Given the description of an element on the screen output the (x, y) to click on. 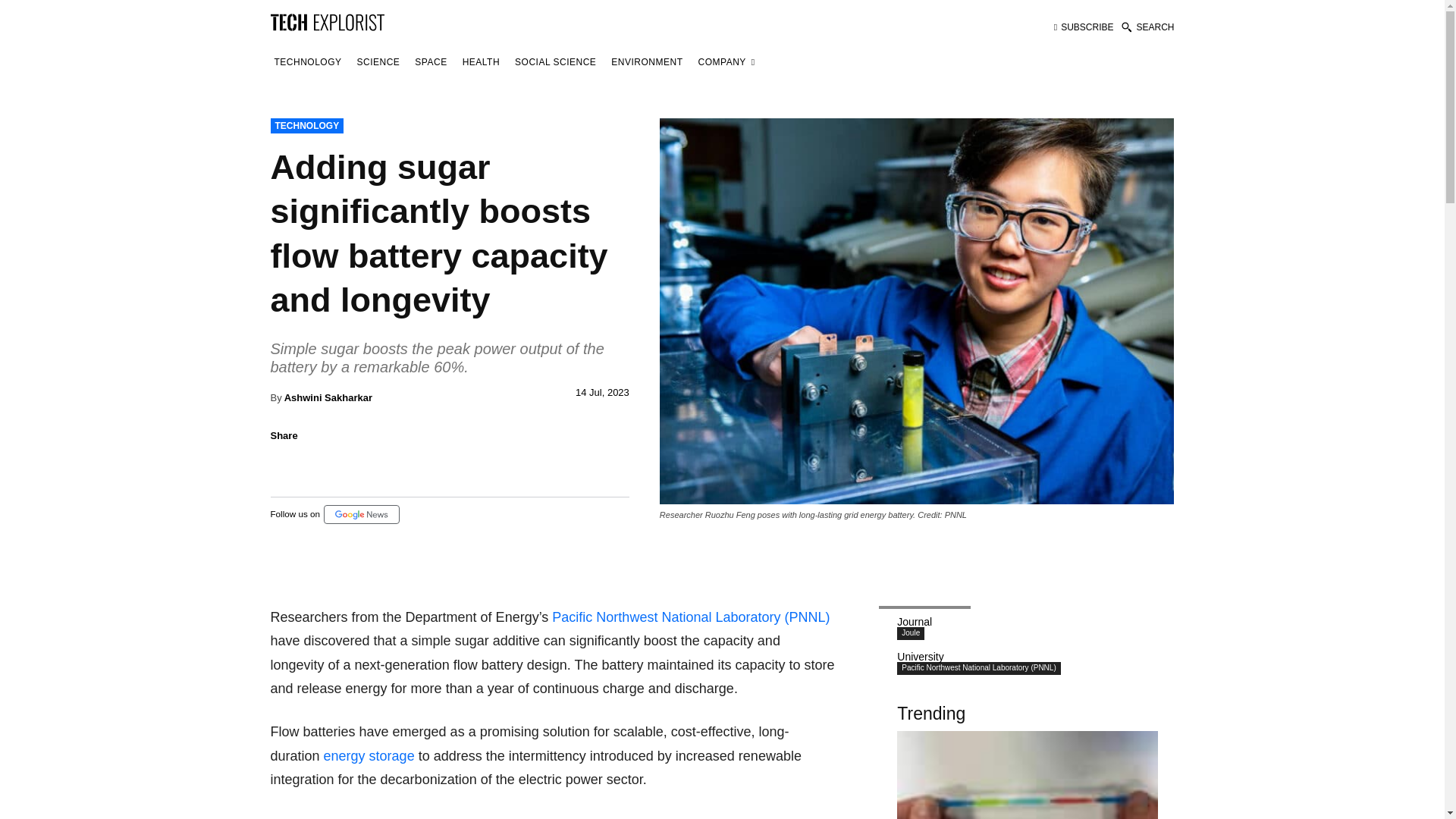
energy storage (368, 755)
TECHNOLOGY (307, 62)
Tech Explorist (326, 21)
Technology (307, 62)
SEARCH (1147, 26)
Ashwini Sakharkar (327, 397)
SUBSCRIBE (1083, 26)
SUBSCRIBE (1083, 26)
HEALTH (480, 62)
COMPANY (726, 62)
SPACE (429, 62)
TECHNOLOGY (306, 125)
SEARCH (1147, 26)
SCIENCE (378, 62)
ENVIRONMENT (646, 62)
